Given the description of an element on the screen output the (x, y) to click on. 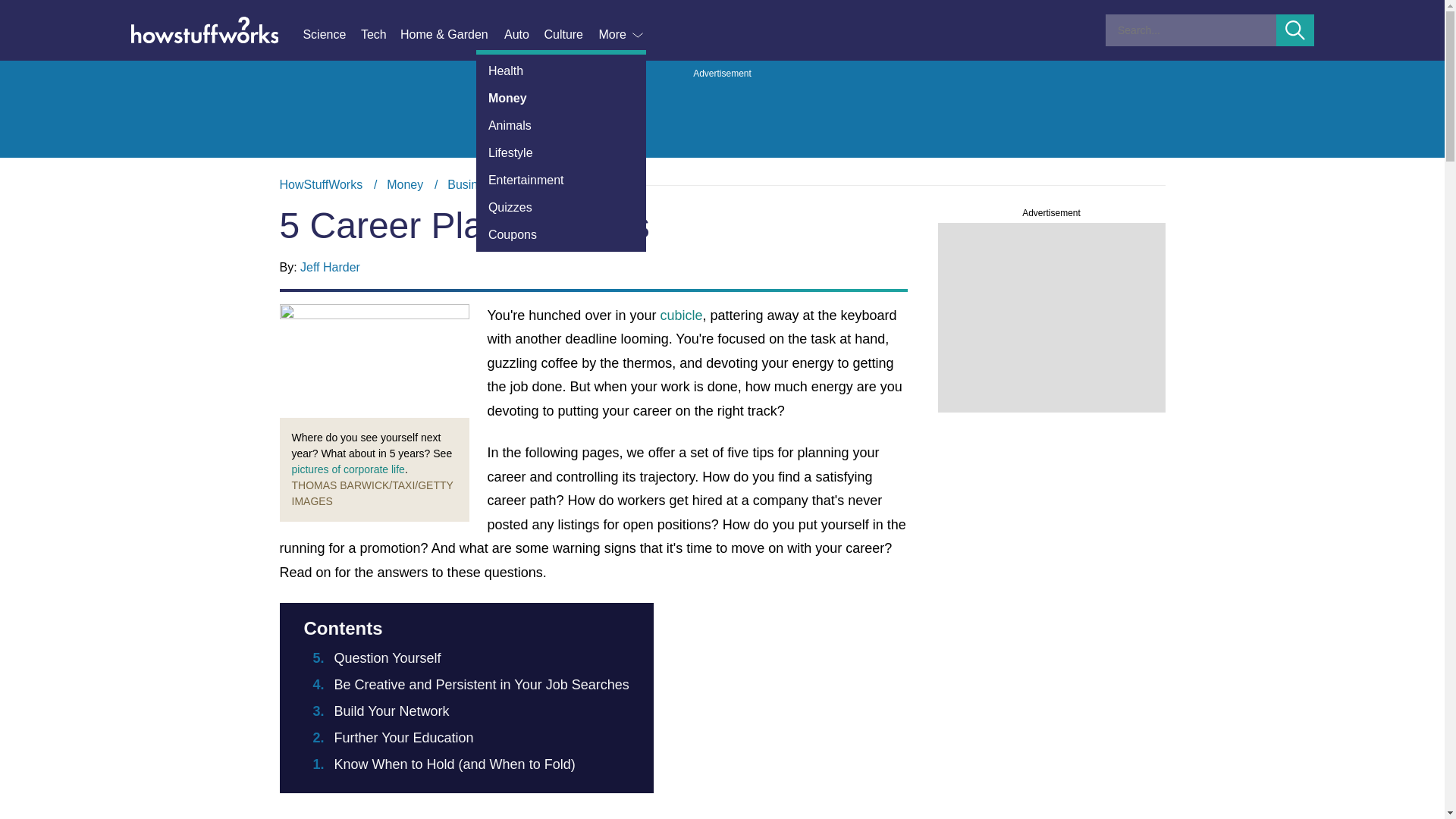
HowStuffWorks (320, 184)
Money (405, 184)
Lifestyle (561, 153)
Jeff Harder (329, 267)
Science (721, 185)
Animals (330, 34)
Health (561, 125)
Culture (561, 71)
More (570, 34)
